Given the description of an element on the screen output the (x, y) to click on. 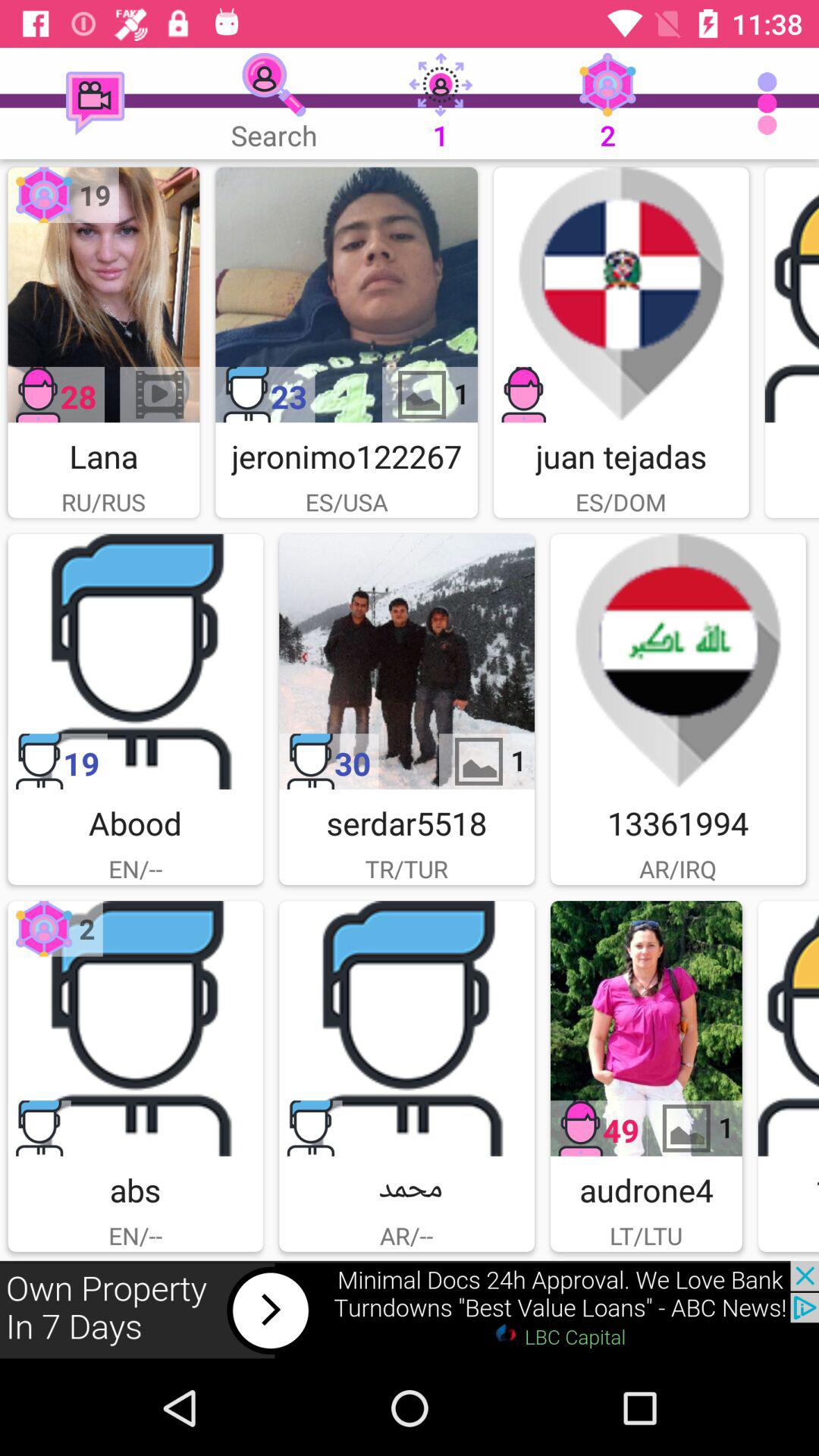
connect to selected person (103, 294)
